Given the description of an element on the screen output the (x, y) to click on. 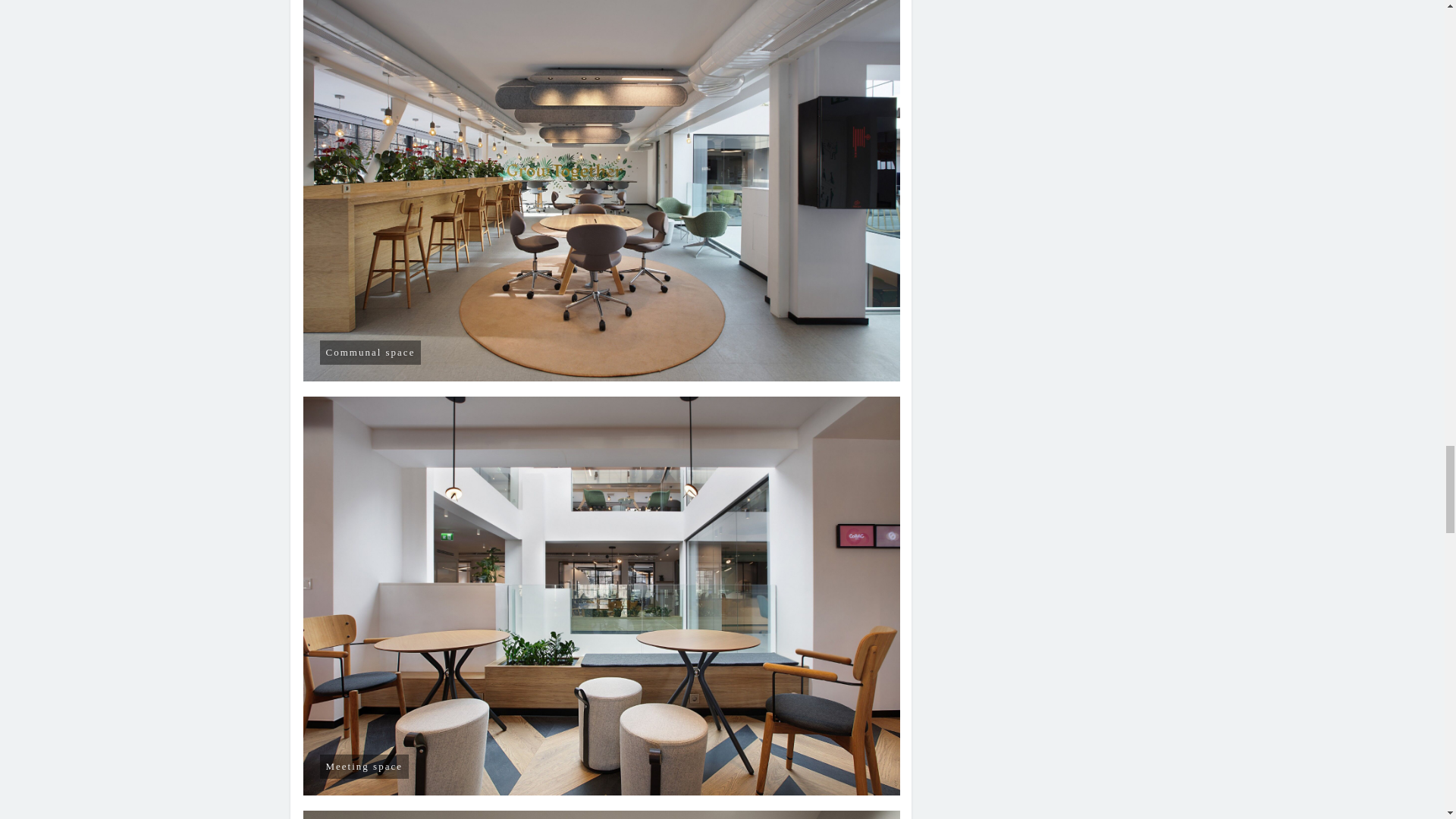
Meeting room (601, 814)
